Given the description of an element on the screen output the (x, y) to click on. 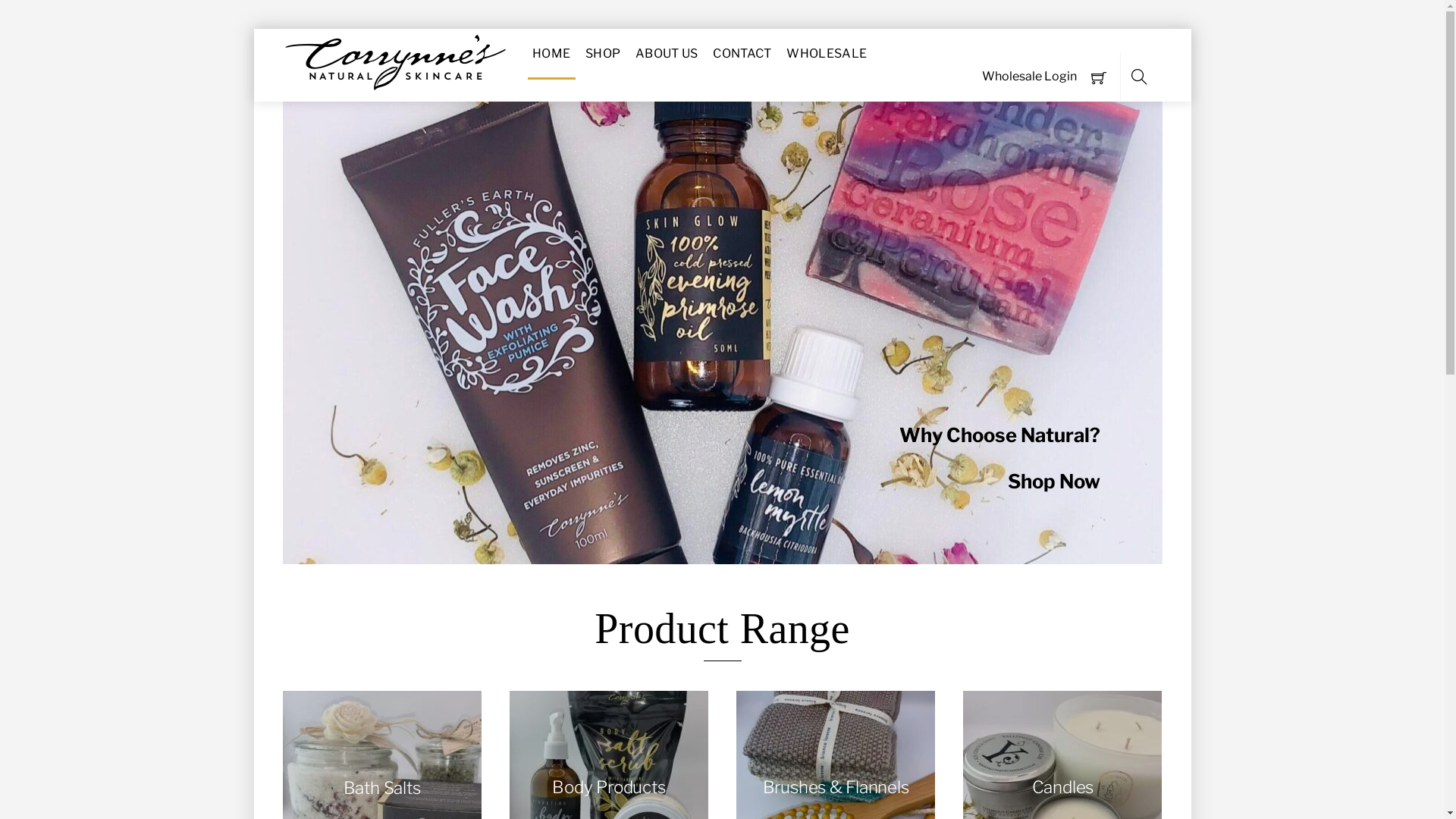
Body Products Element type: text (608, 790)
Bath Salts Element type: text (381, 790)
Wholesale Login Element type: text (1028, 76)
HOME Element type: text (551, 53)
Shop Now Element type: text (1053, 480)
Candles Element type: text (1062, 790)
Corrynne's Natural Skincare Element type: hover (395, 87)
Why Choose Natural? Element type: text (999, 434)
WHOLESALE Element type: text (826, 53)
Corrynne's Natural Skincare Element type: hover (395, 63)
ABOUT US Element type: text (666, 53)
CONTACT Element type: text (742, 53)
Brushes & Flannels Element type: text (835, 790)
SHOP Element type: text (602, 53)
